Given the description of an element on the screen output the (x, y) to click on. 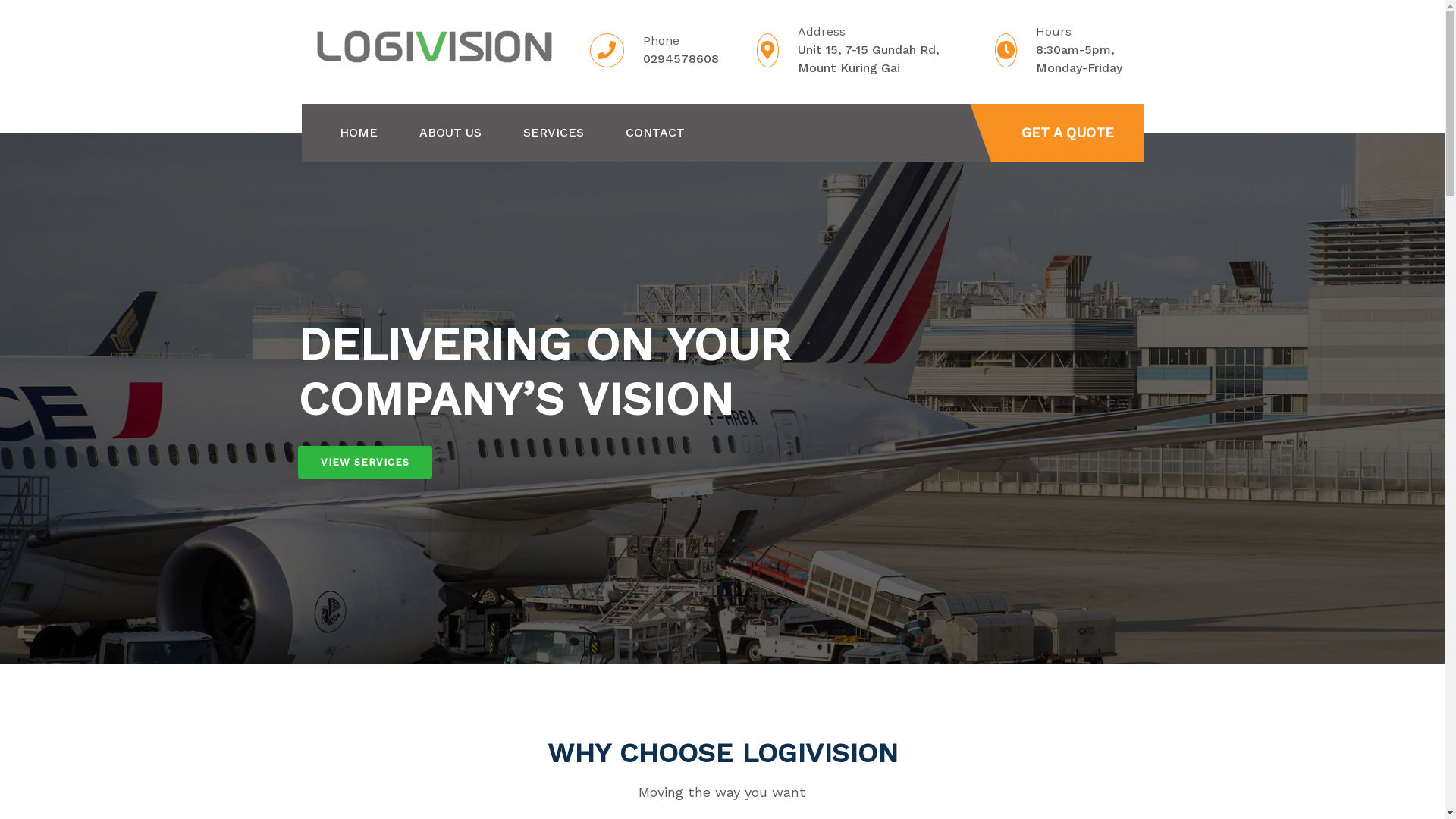
GET A QUOTE Element type: text (1067, 132)
ABOUT US Element type: text (449, 132)
SERVICES Element type: text (553, 132)
CONTACT Element type: text (654, 132)
HOME Element type: text (358, 132)
VIEW SERVICES Element type: text (364, 461)
